Given the description of an element on the screen output the (x, y) to click on. 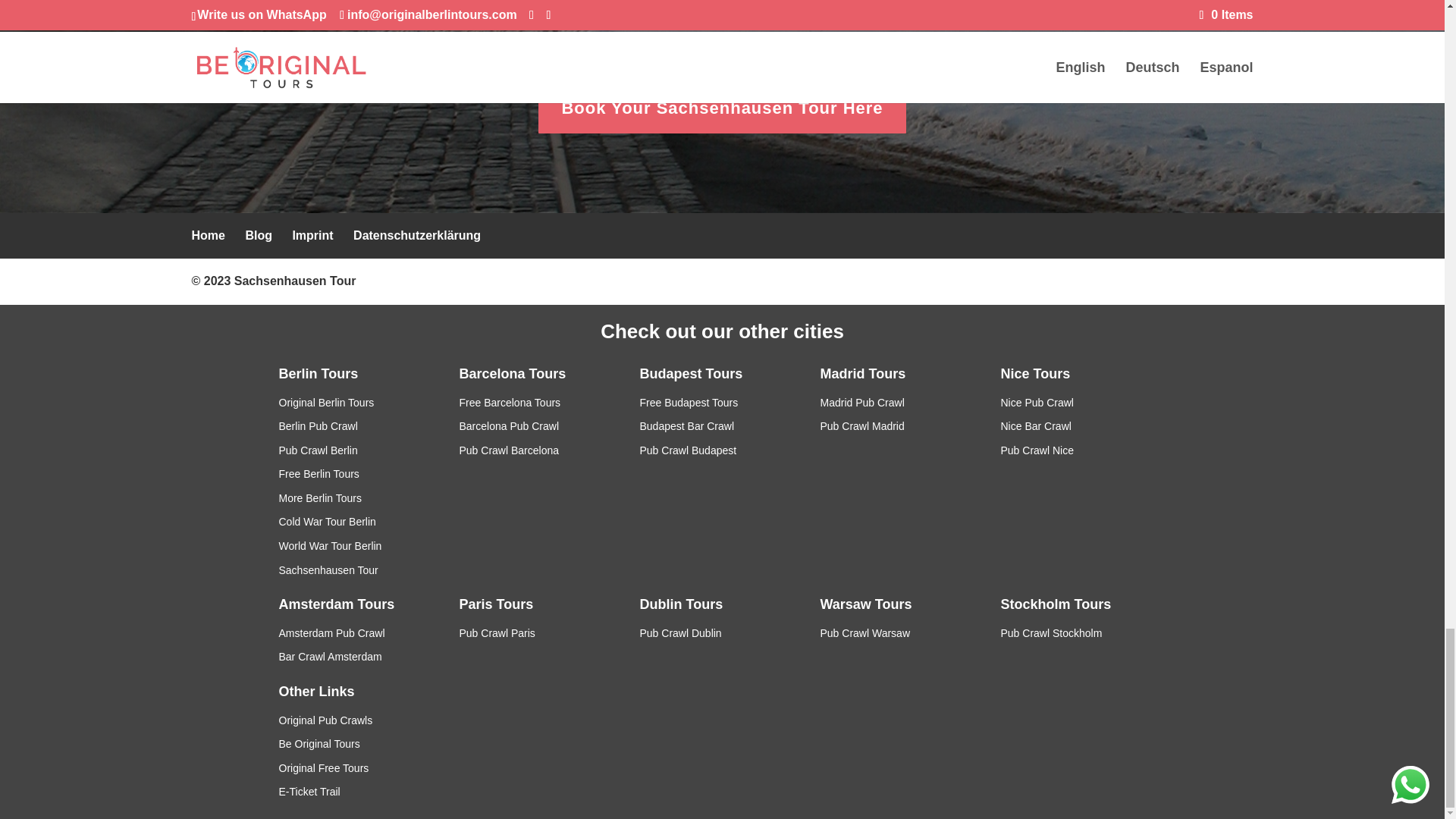
Sachsenhausen Tour (295, 280)
Free Berlin Tours (319, 473)
Imprint (312, 235)
Pub Crawl Berlin (318, 450)
Cold War Tour Berlin (327, 521)
More Berlin Tours (320, 498)
Original Berlin Tours (326, 402)
Book Your Sachsenhausen Tour Here (721, 107)
Blog (258, 235)
Home (207, 235)
